Given the description of an element on the screen output the (x, y) to click on. 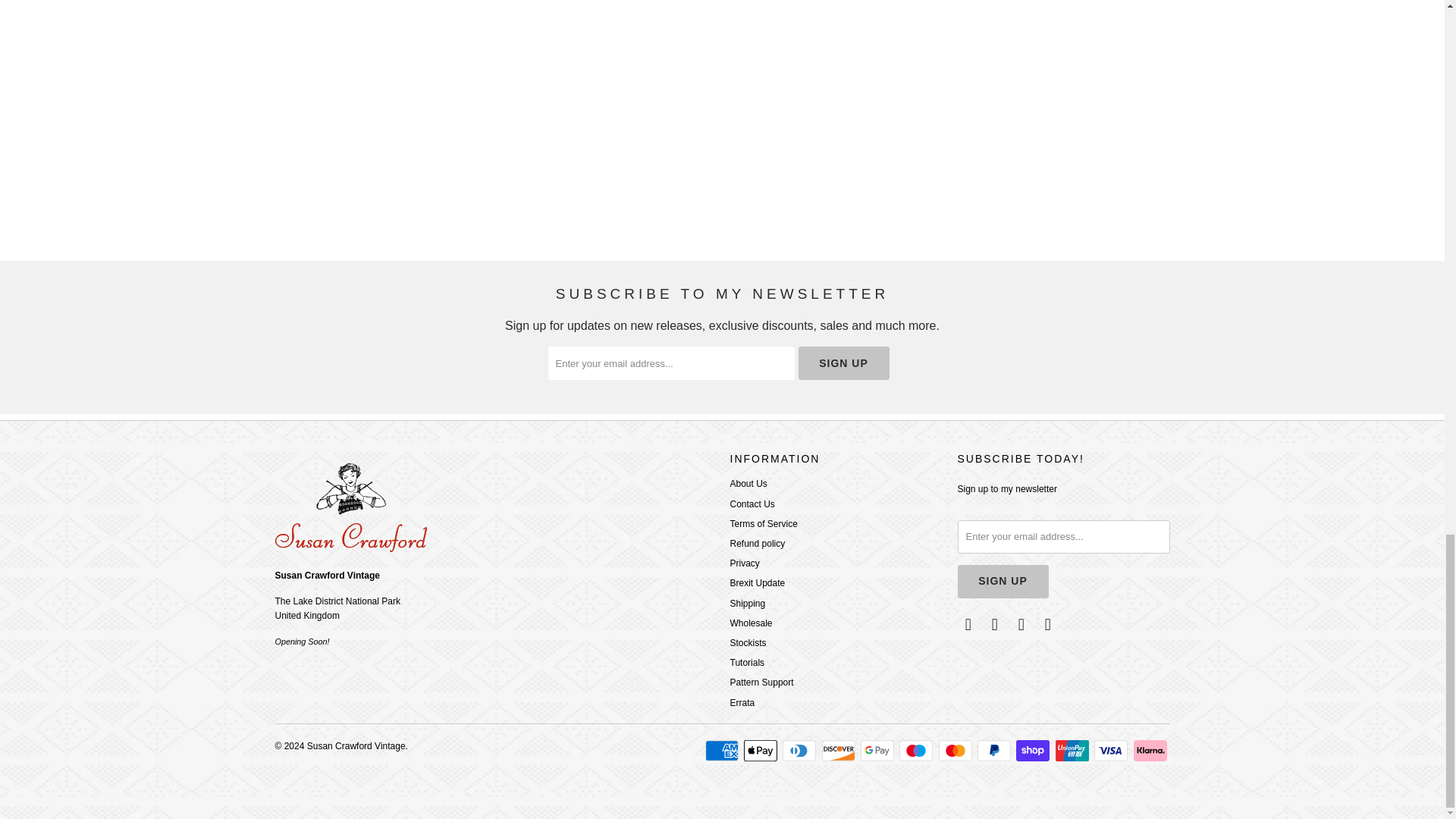
Shop Pay (1034, 750)
PayPal (994, 750)
Visa (1112, 750)
American Express (722, 750)
Susan Crawford Vintage on Twitter (967, 624)
Maestro (917, 750)
Google Pay (878, 750)
Sign Up (1002, 581)
Klarna (1150, 750)
Union Pay (1073, 750)
